Given the description of an element on the screen output the (x, y) to click on. 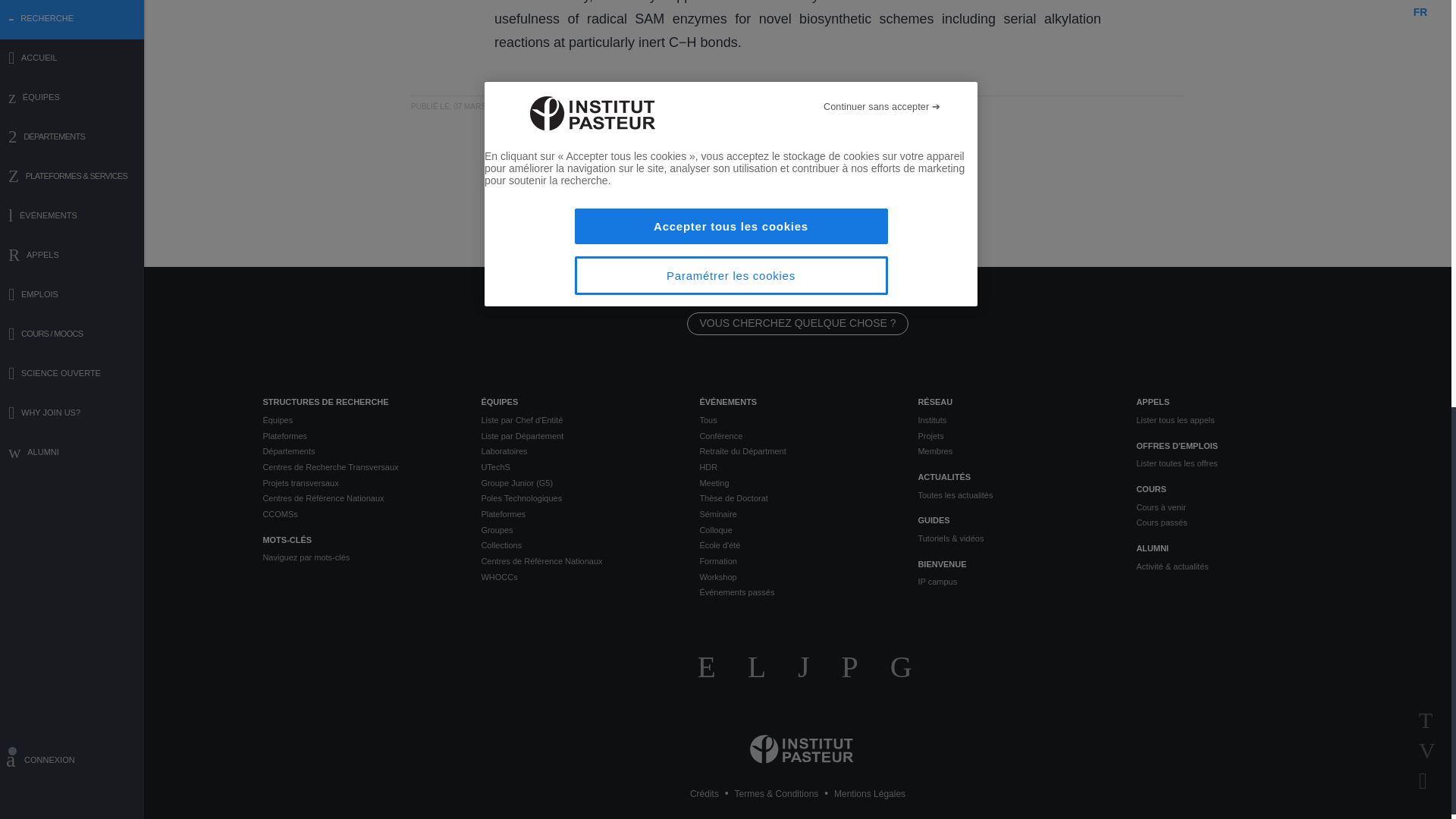
Plateformes (360, 436)
